Given the description of an element on the screen output the (x, y) to click on. 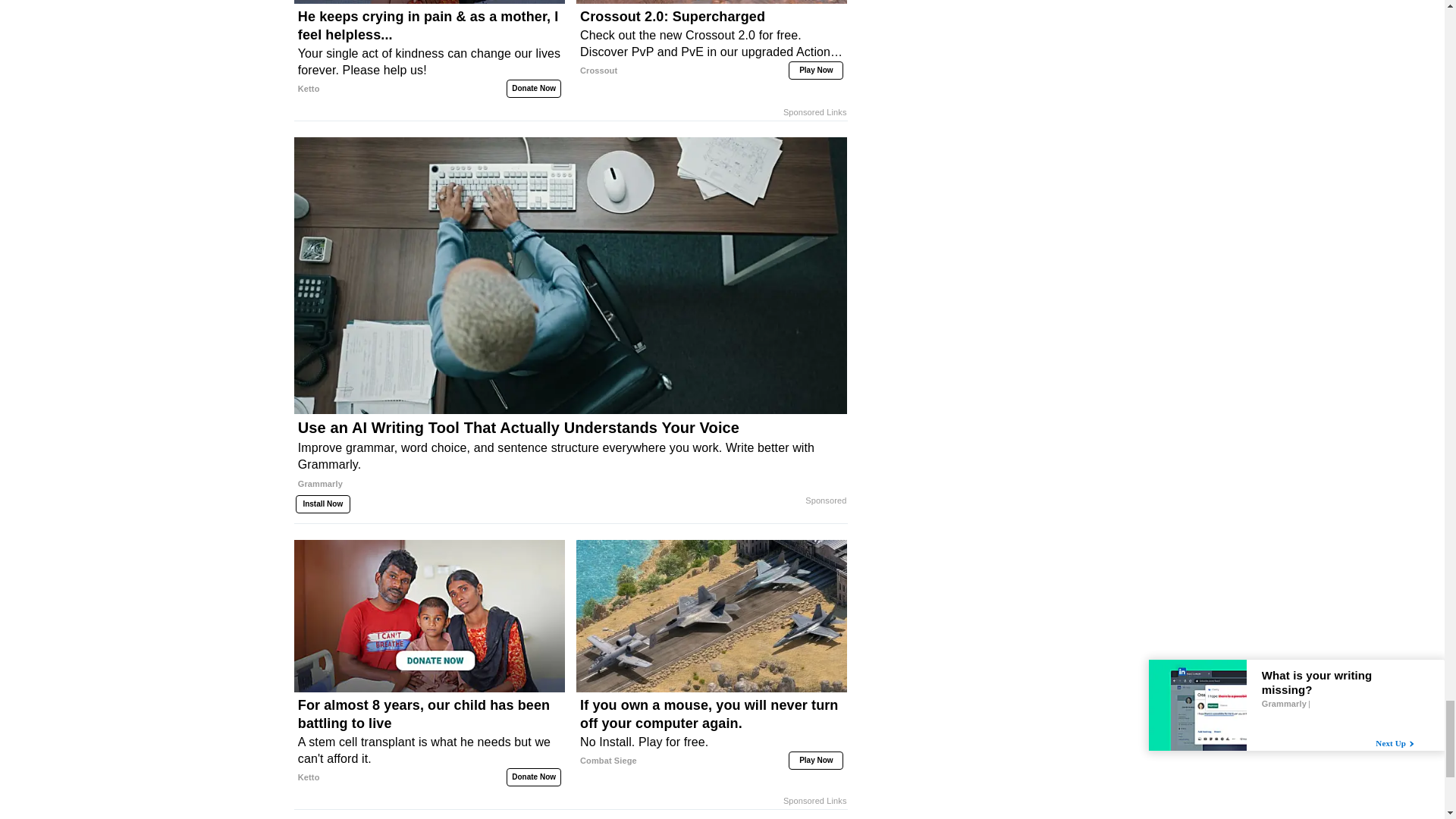
For almost 8 years, our child has been battling to live (429, 741)
Crossout 2.0: Supercharged (711, 43)
Play Now (816, 70)
Donate Now (533, 88)
Use an AI Writing Tool That Actually Understands Your Voice (570, 461)
